Given the description of an element on the screen output the (x, y) to click on. 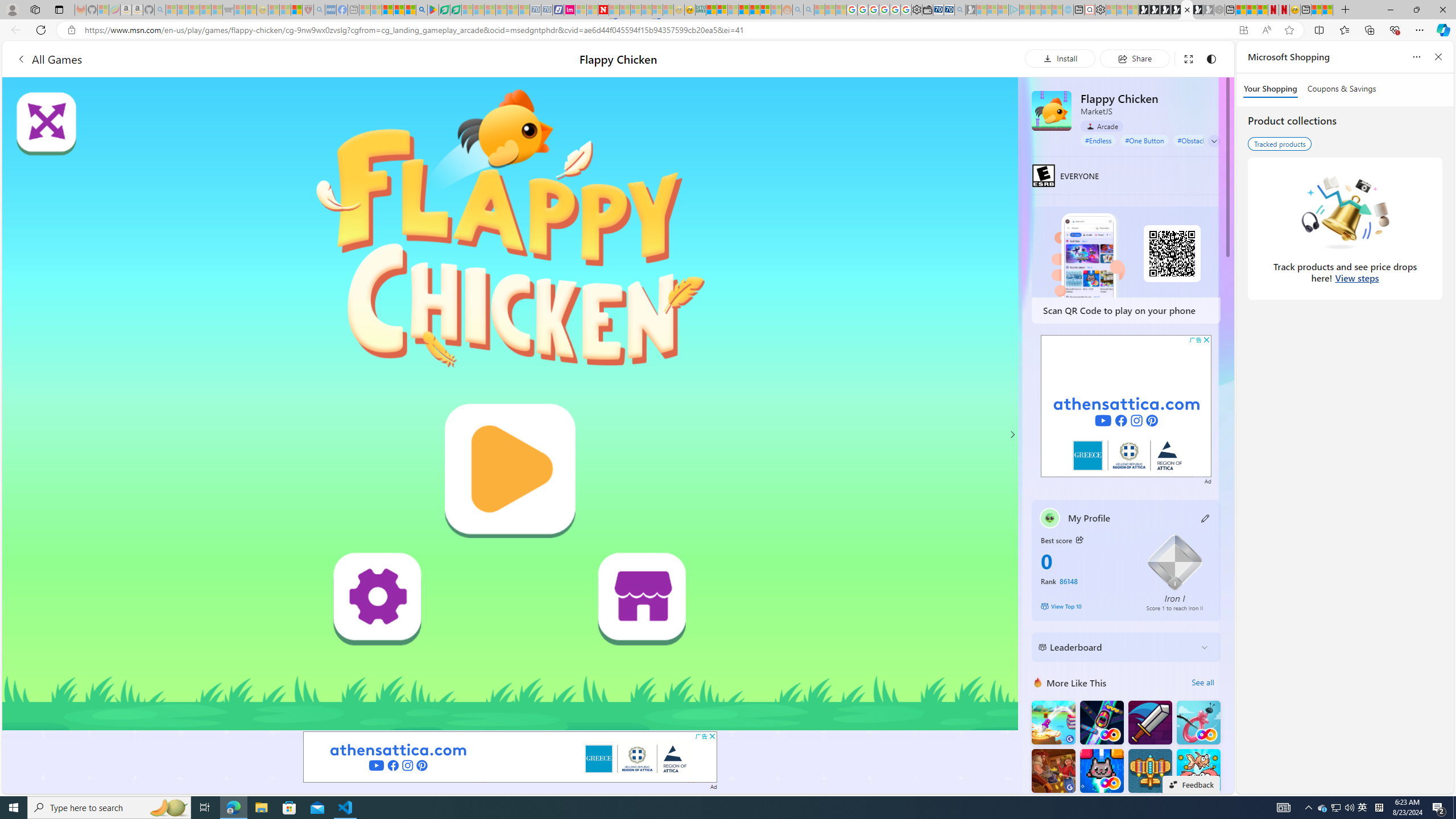
More Like This (1037, 682)
Kitten Force FRVR (1101, 770)
Fish Merge FRVR (1198, 770)
Flappy Chicken (1051, 110)
#Obstacle Course (1203, 140)
EVERYONE (1043, 175)
